Given the description of an element on the screen output the (x, y) to click on. 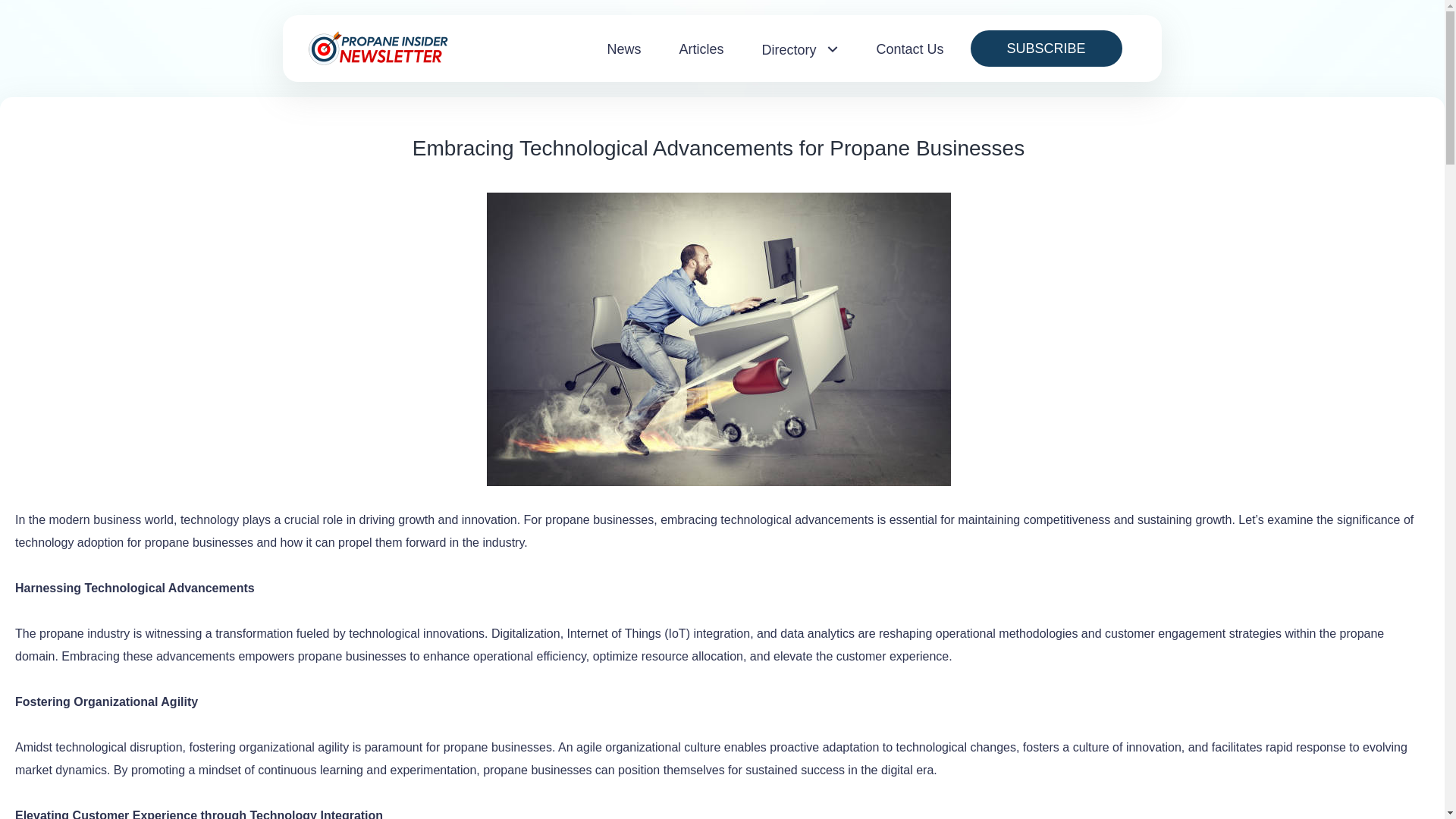
Directory (798, 50)
Contact Us (909, 49)
News (623, 49)
Articles (700, 49)
SUBSCRIBE (1046, 48)
